Given the description of an element on the screen output the (x, y) to click on. 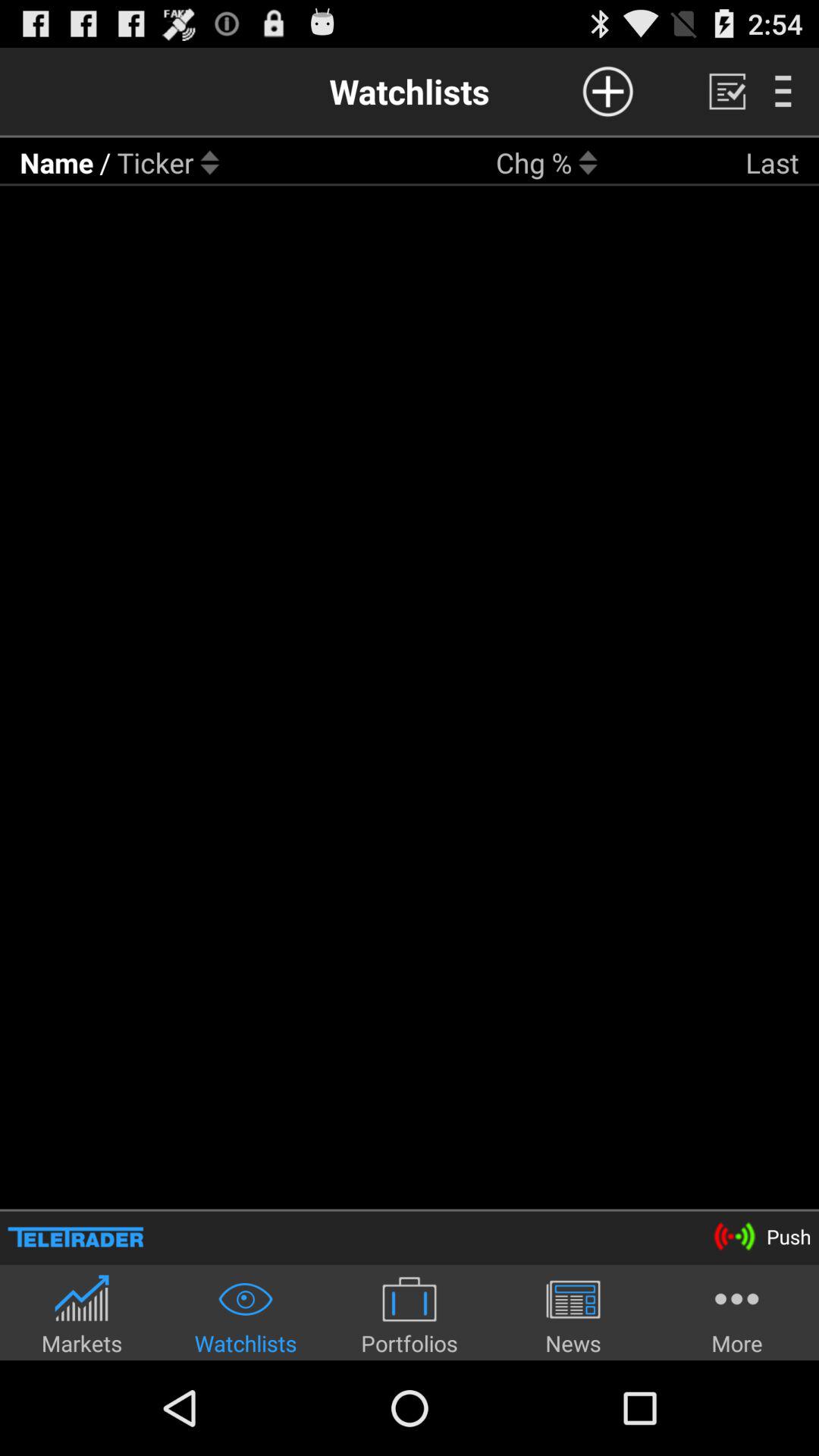
scroll until chg % item (533, 162)
